Given the description of an element on the screen output the (x, y) to click on. 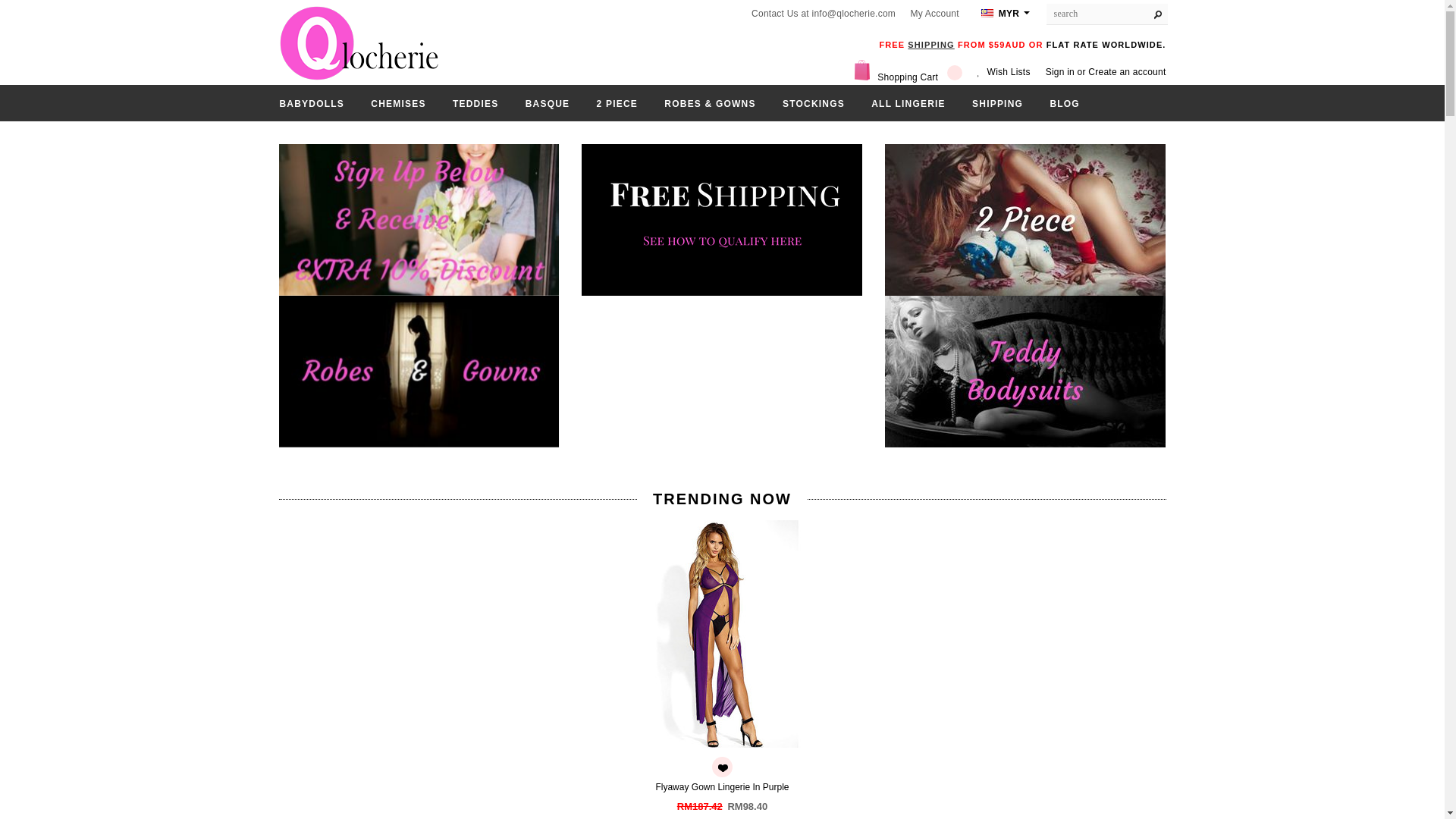
Create an account (1126, 72)
Sign in (1059, 72)
2 Piece Lingerie (1025, 219)
Shipping (930, 44)
2 Piece Lingerie (1025, 218)
Free Shipping (720, 219)
Wish Lists (1008, 72)
View Cart (910, 75)
Shopping Cart (910, 75)
My Account (934, 13)
Free Shipping (720, 218)
MYR (1005, 13)
search (1098, 13)
Search (1161, 11)
